Given the description of an element on the screen output the (x, y) to click on. 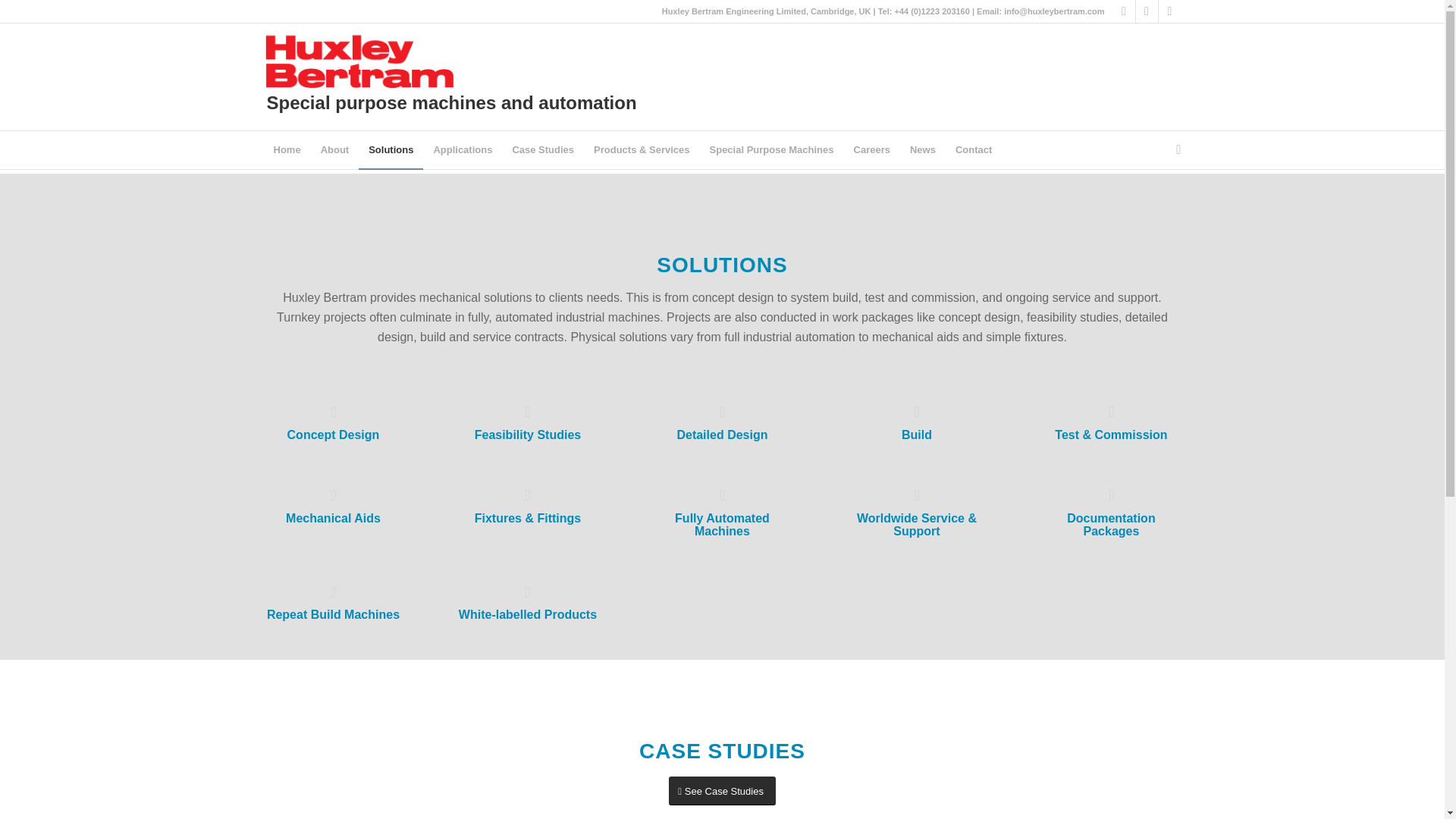
News (921, 149)
Applications (462, 149)
Youtube (1169, 11)
Huxley Bertram (1077, 151)
Home (1077, 151)
About (335, 149)
Careers (871, 149)
See Case Studies (722, 790)
Solutions (390, 149)
Linkedin (1124, 11)
